Given the description of an element on the screen output the (x, y) to click on. 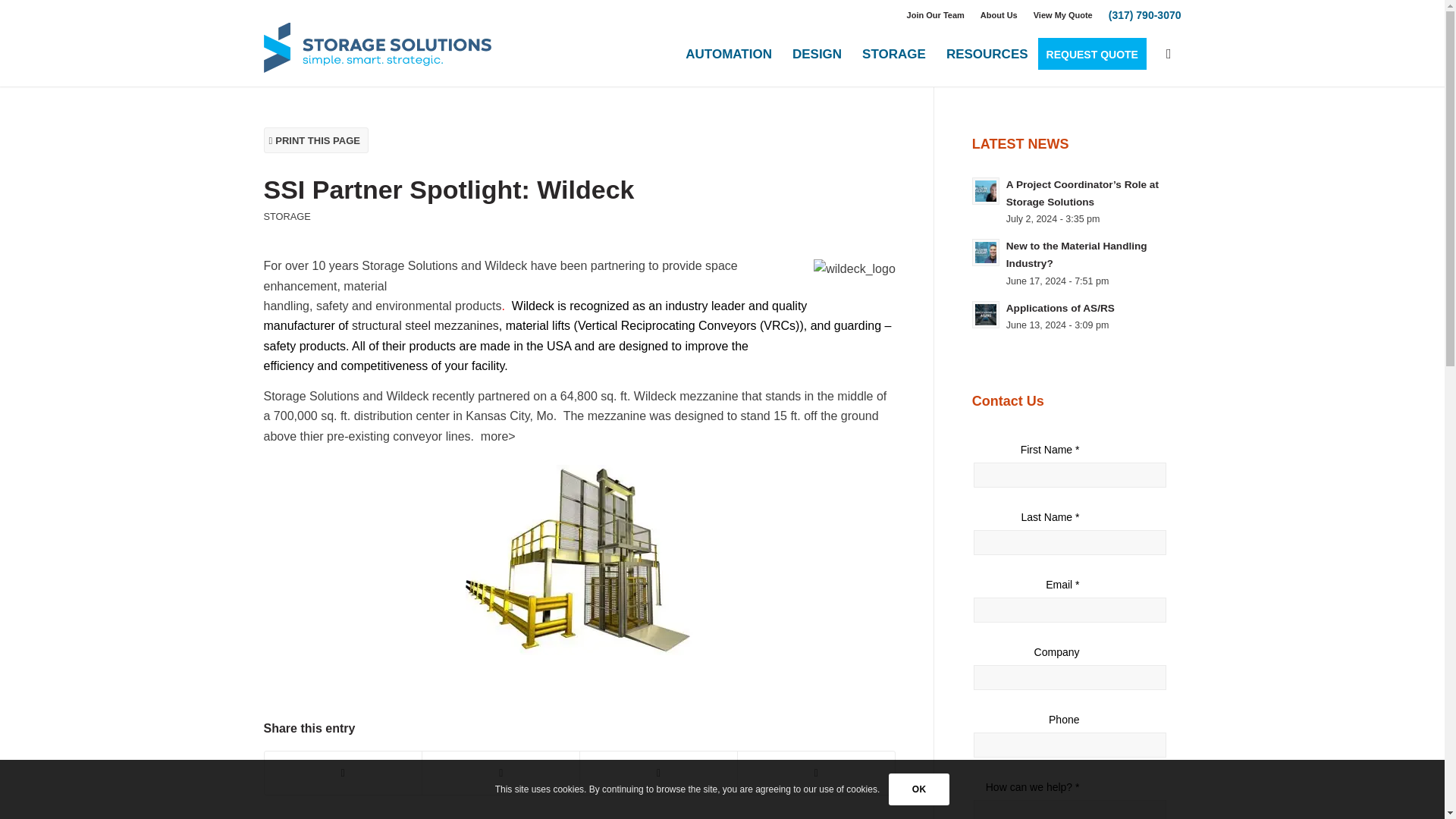
View My Quote (1063, 14)
Read: New to the Material Handling Industry? (1076, 254)
About Us (998, 14)
Read: New to the Material Handling Industry? (985, 252)
AUTOMATION (728, 54)
Join Our Team (935, 14)
